Given the description of an element on the screen output the (x, y) to click on. 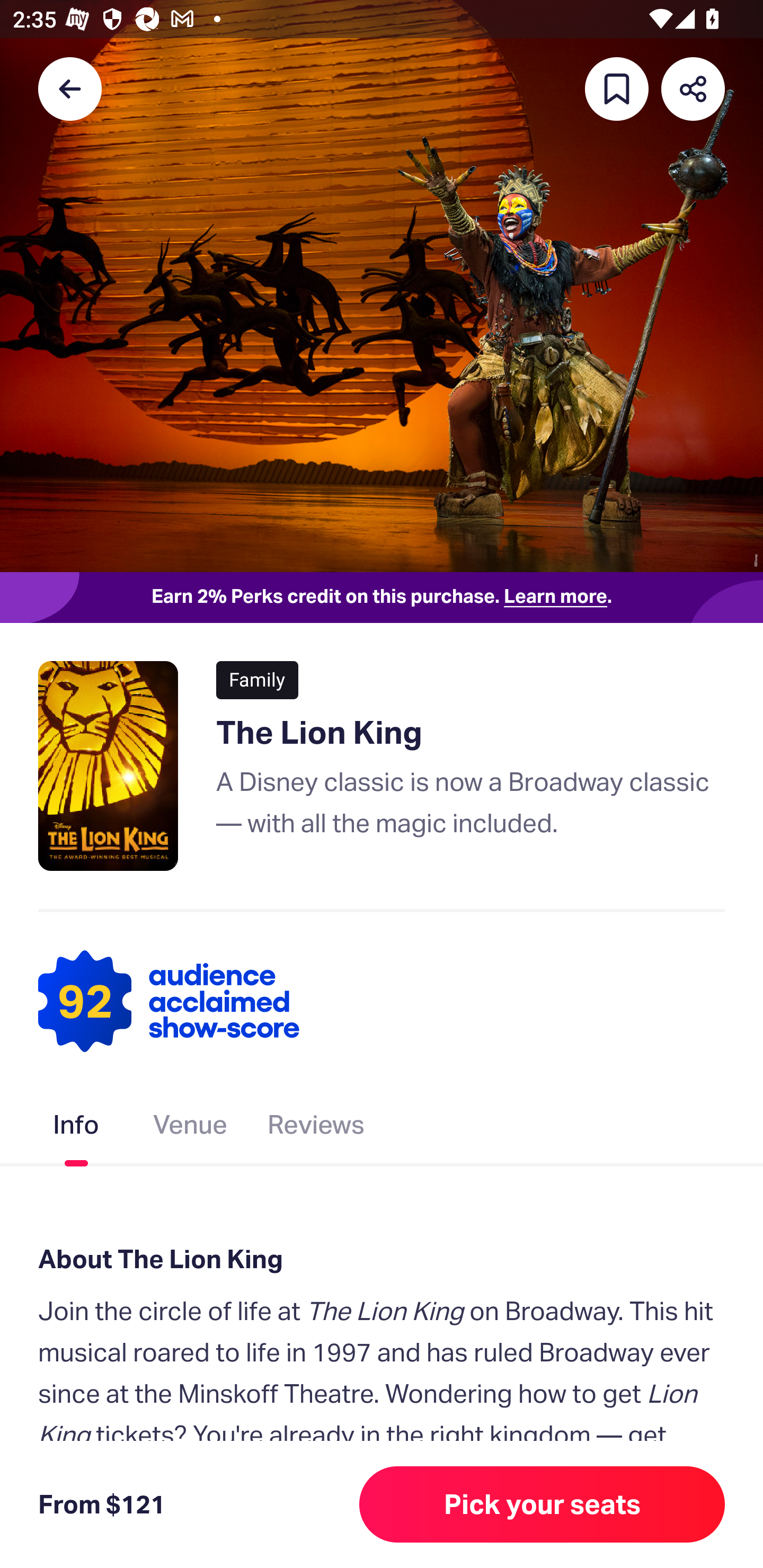
Earn 2% Perks credit on this purchase. Learn more. (381, 597)
Venue (190, 1127)
Reviews (315, 1127)
About The Lion King (381, 1259)
Pick your seats (541, 1504)
